Given the description of an element on the screen output the (x, y) to click on. 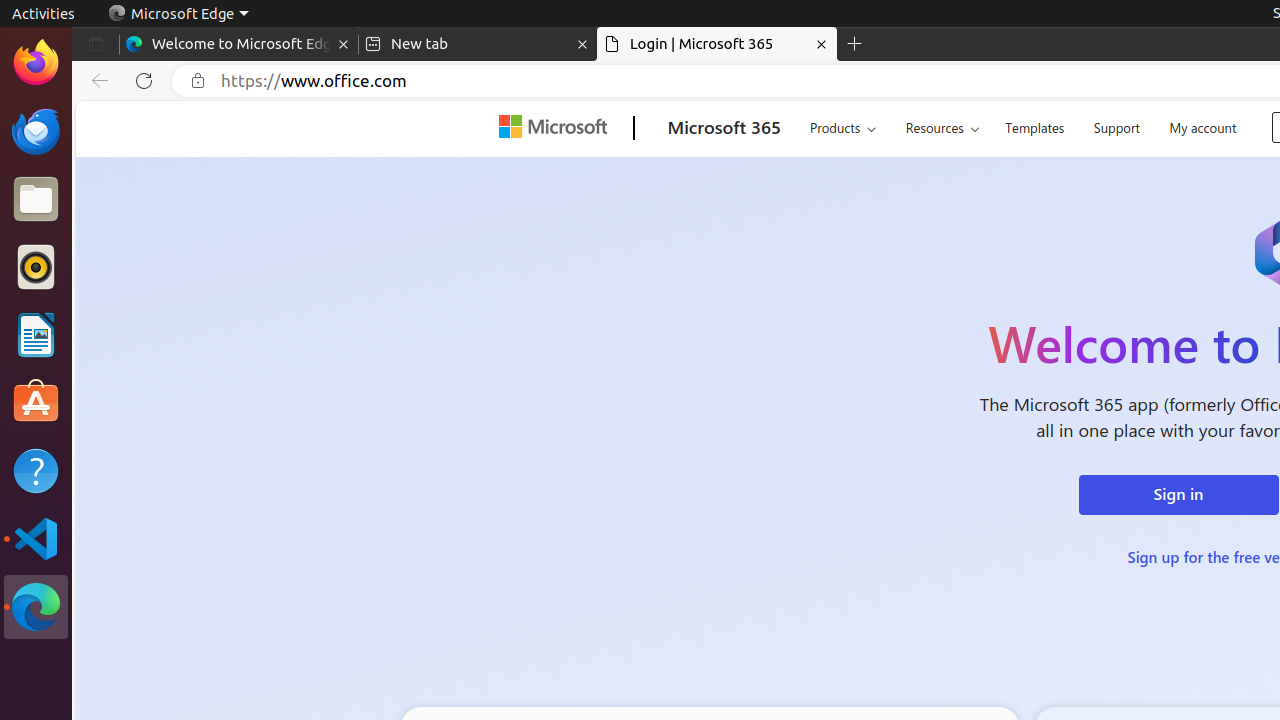
LibreOffice Writer Element type: push-button (36, 334)
Refresh Element type: push-button (144, 81)
Microsoft Element type: link (557, 129)
Rhythmbox Element type: push-button (36, 267)
Resources  Element type: push-button (941, 127)
